Given the description of an element on the screen output the (x, y) to click on. 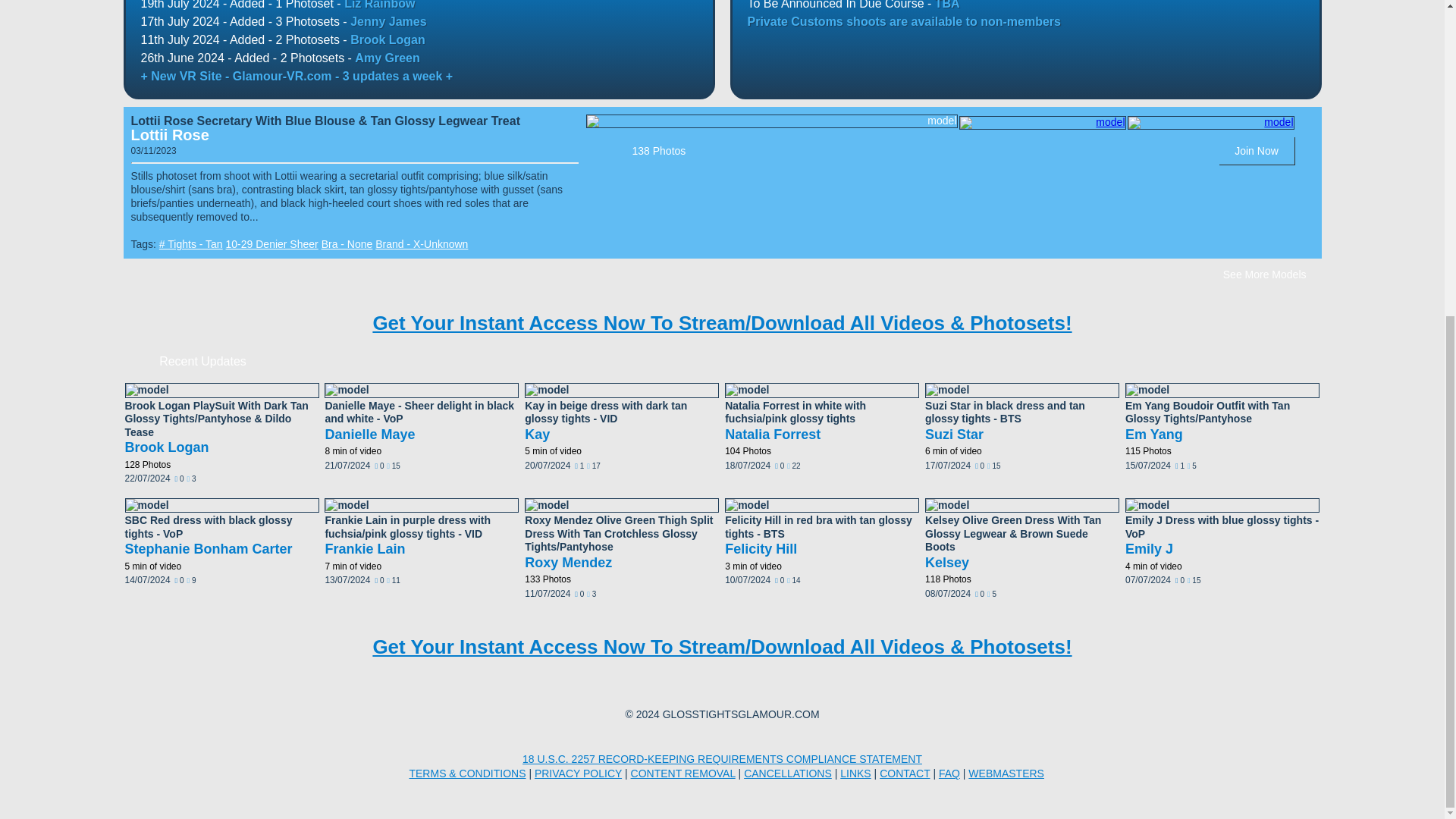
See More Models (1265, 274)
Lottii Rose (169, 134)
Danielle Maye - Sheer delight in black and white - VoP (418, 412)
Brook Logan (165, 447)
Amy Green (387, 57)
Danielle Maye (369, 434)
10-29 Denier Sheer (271, 244)
Brook Logan (387, 39)
Jenny James (388, 21)
Private Customs shoots are available to non-members (904, 21)
Kay in beige dress with dark tan glossy tights - VID (605, 412)
Bra - None (346, 244)
TBA (946, 4)
Kay (537, 434)
Liz Rainbow (378, 4)
